Given the description of an element on the screen output the (x, y) to click on. 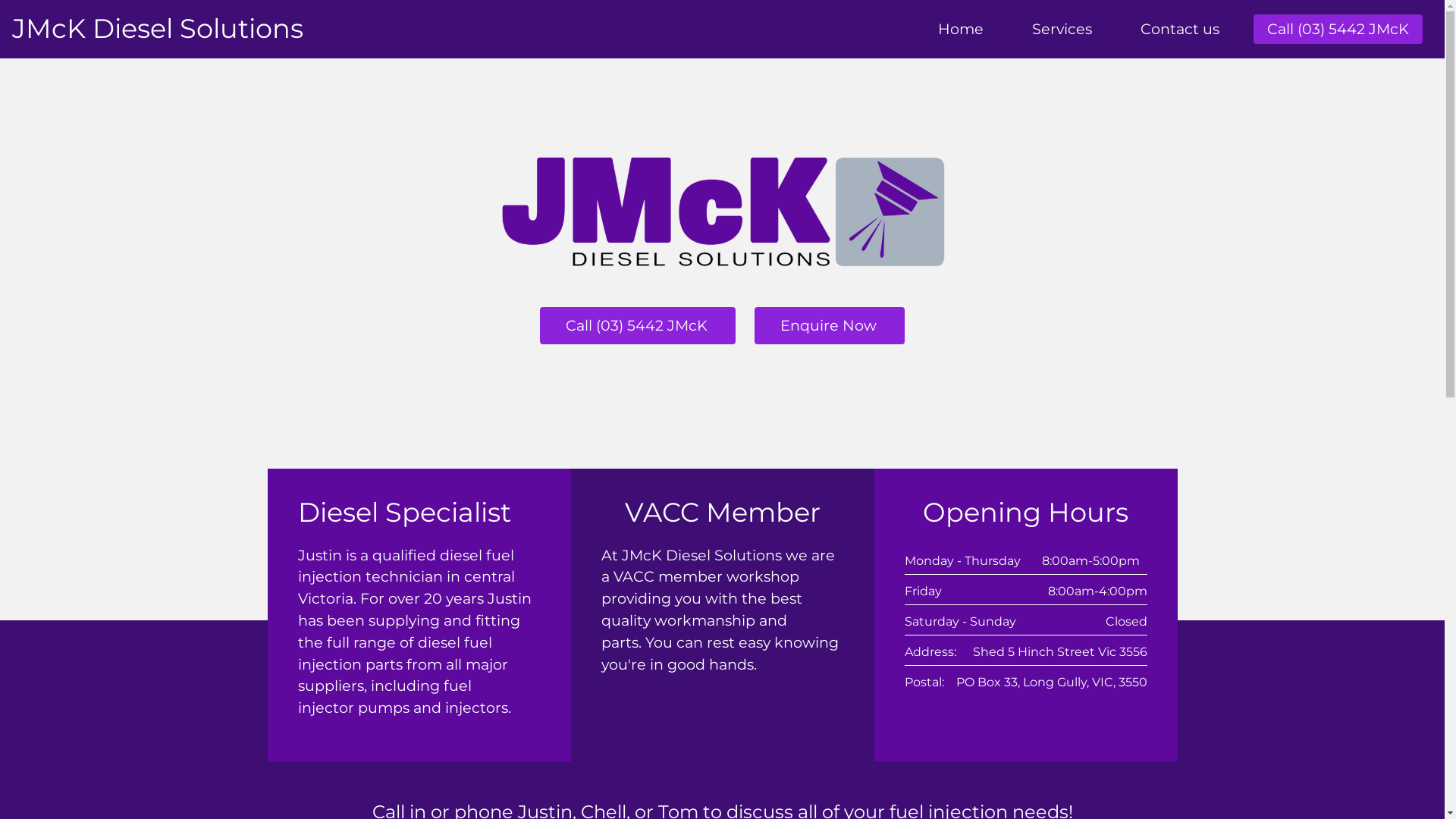
Enquire Now Element type: text (829, 325)
Services Element type: text (1062, 28)
Contact us Element type: text (1179, 28)
JMcK Diesel Solutions Element type: text (157, 29)
Call (03) 5442 JMcK Element type: text (637, 325)
Home Element type: text (960, 28)
Call (03) 5442 JMcK Element type: text (1337, 28)
